Given the description of an element on the screen output the (x, y) to click on. 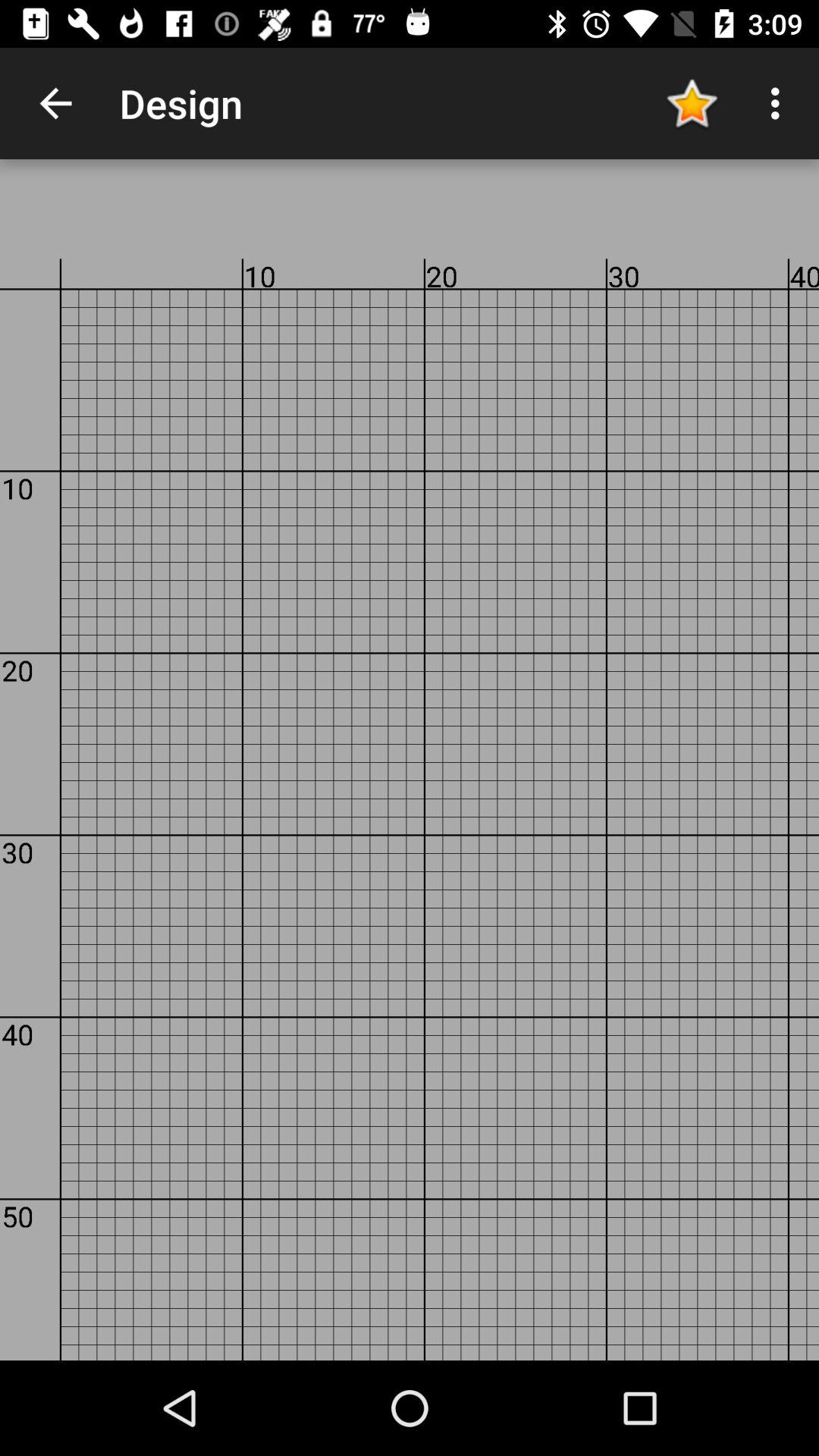
open app next to the design icon (691, 103)
